Given the description of an element on the screen output the (x, y) to click on. 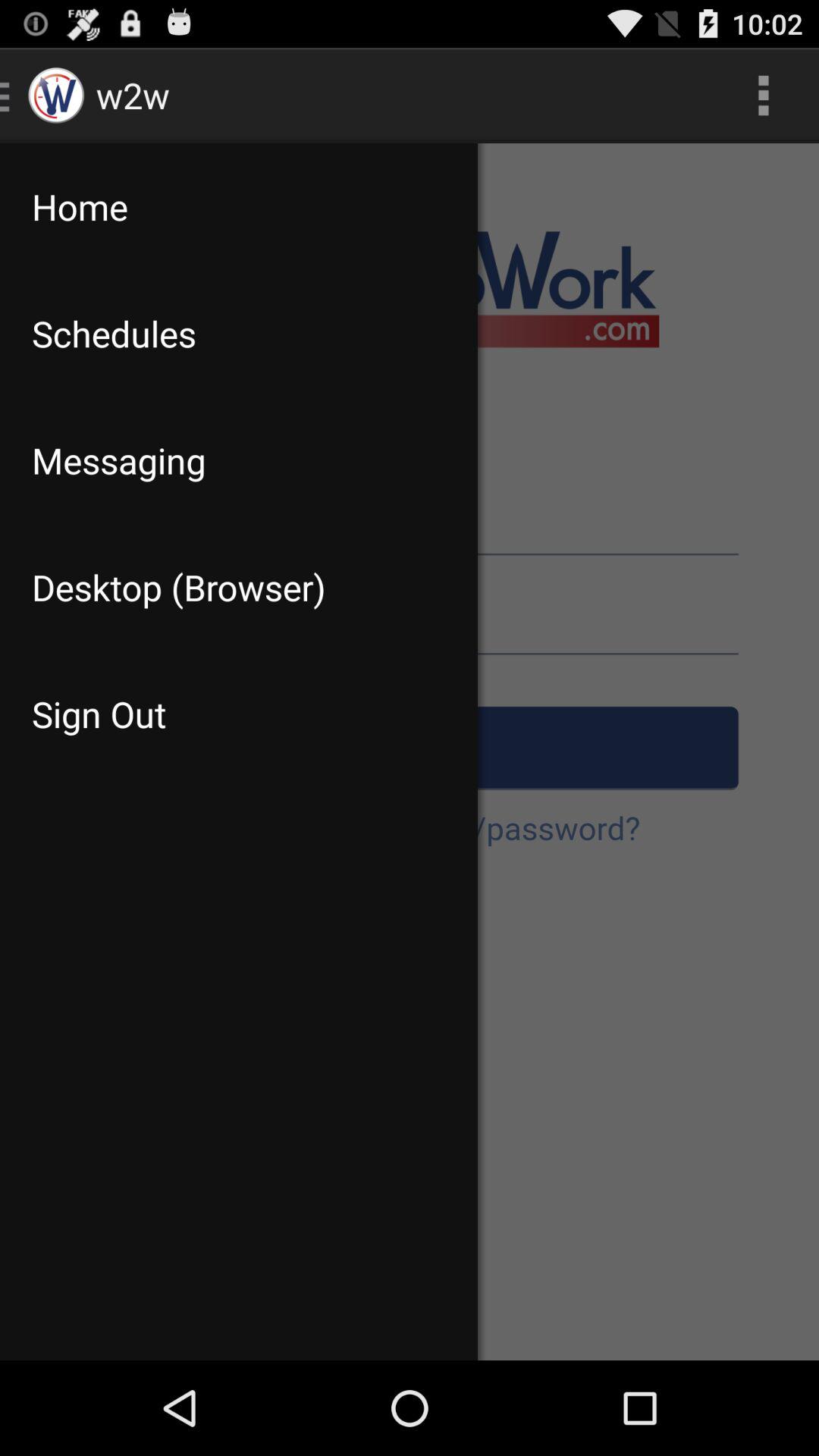
turn on the app to the right of the home item (763, 95)
